Given the description of an element on the screen output the (x, y) to click on. 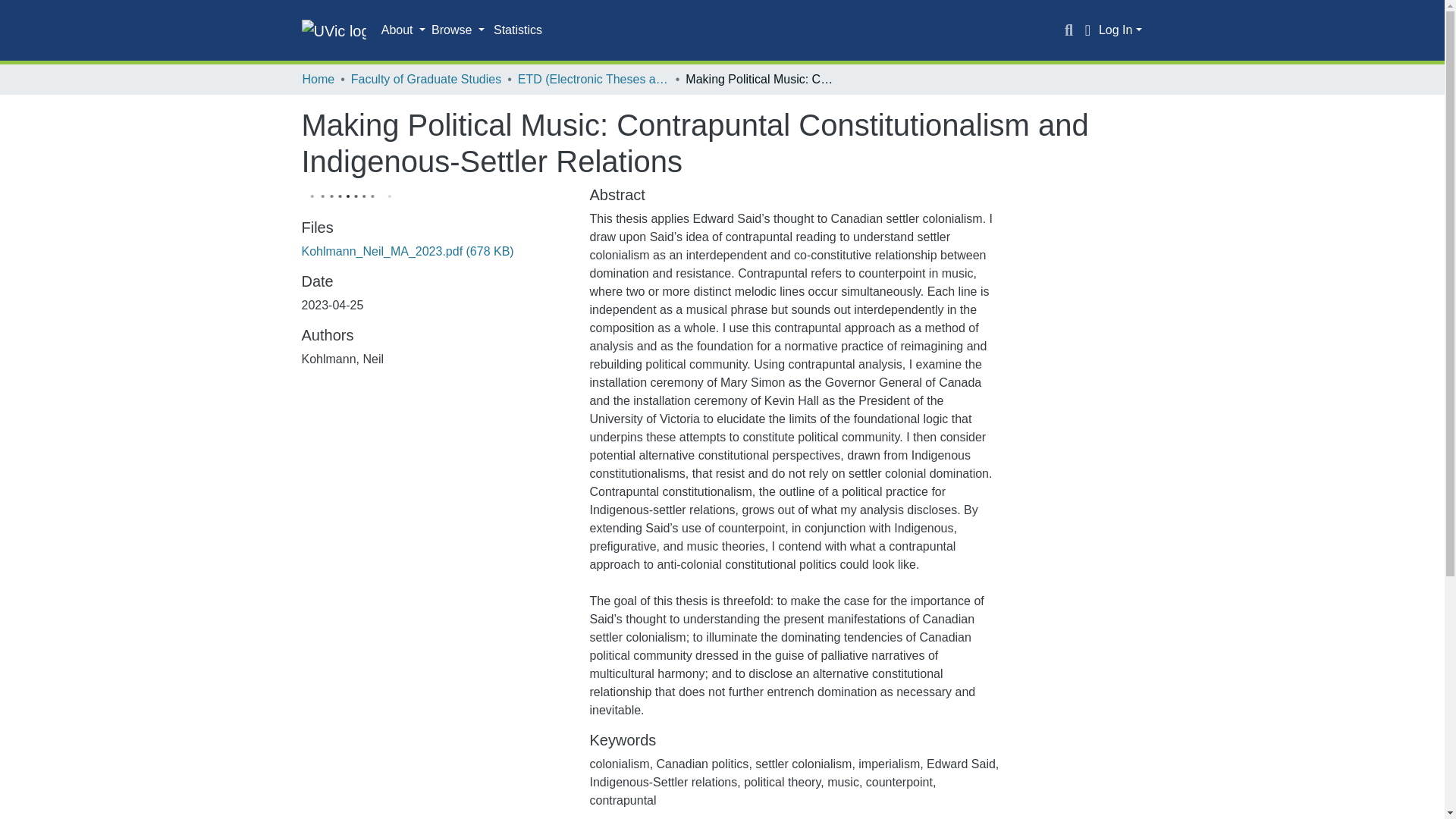
Statistics (517, 30)
Home (317, 79)
Faculty of Graduate Studies (425, 79)
Log In (1119, 29)
Language switch (1087, 30)
Browse (457, 30)
Search (1068, 30)
Statistics (517, 30)
About (403, 30)
